Given the description of an element on the screen output the (x, y) to click on. 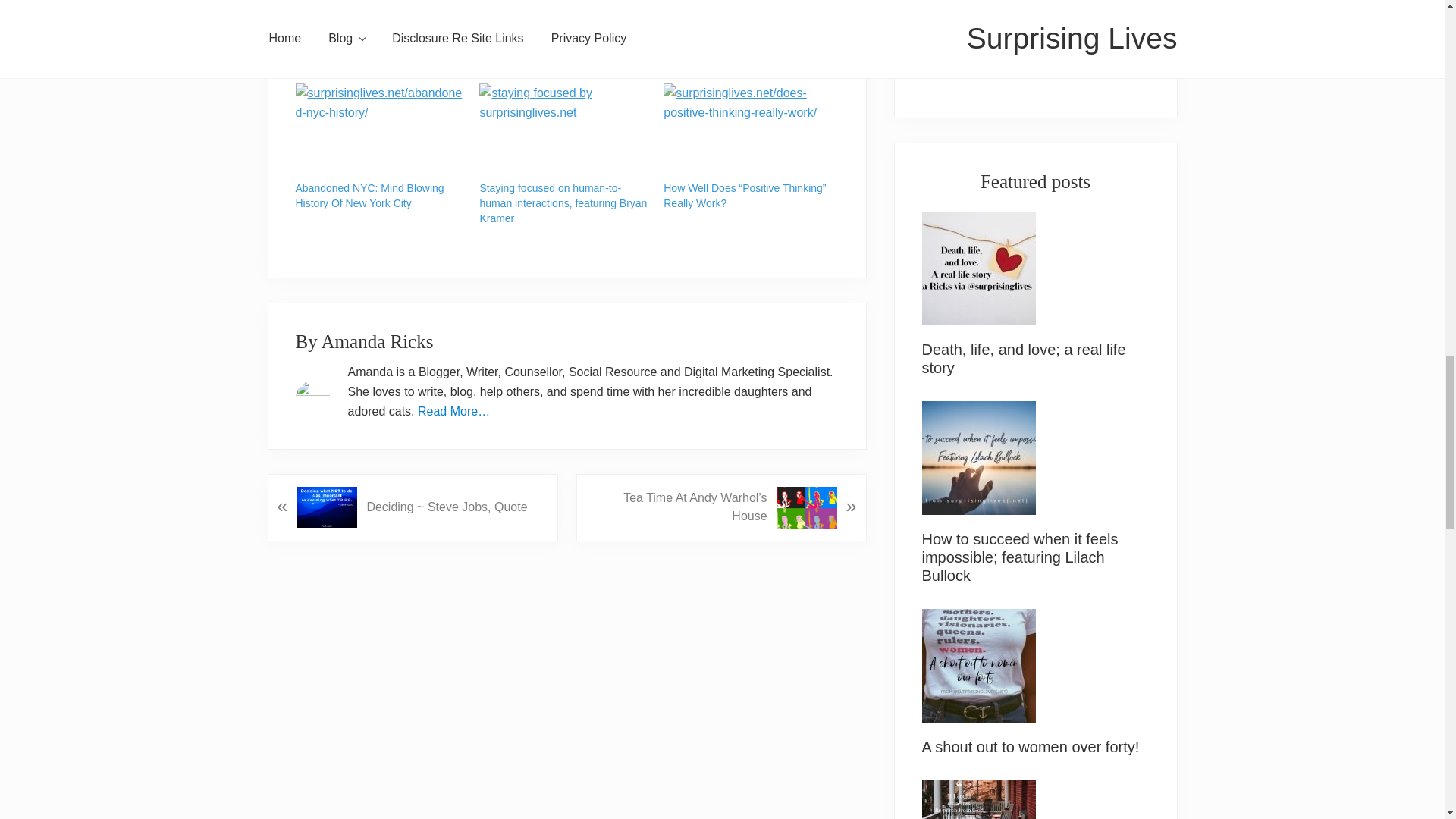
Abandoned NYC: Mind Blowing History Of New York City (379, 131)
Click to share on Pinterest (368, 9)
Click to share on Twitter (307, 9)
Click to share on Facebook (338, 9)
Abandoned NYC: Mind Blowing History Of New York City (369, 195)
